Given the description of an element on the screen output the (x, y) to click on. 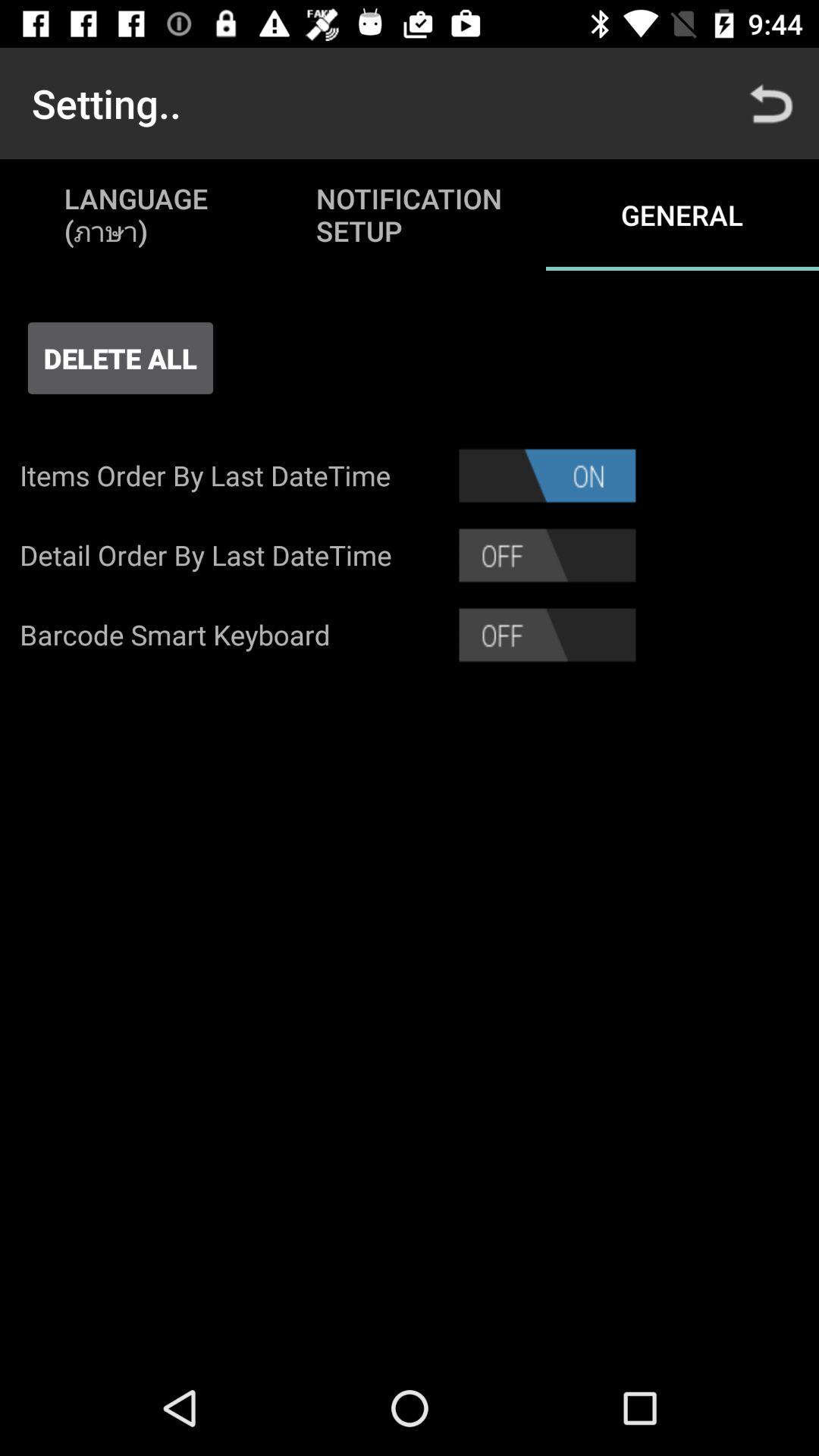
turn on/off detail order by last date/time (547, 555)
